Given the description of an element on the screen output the (x, y) to click on. 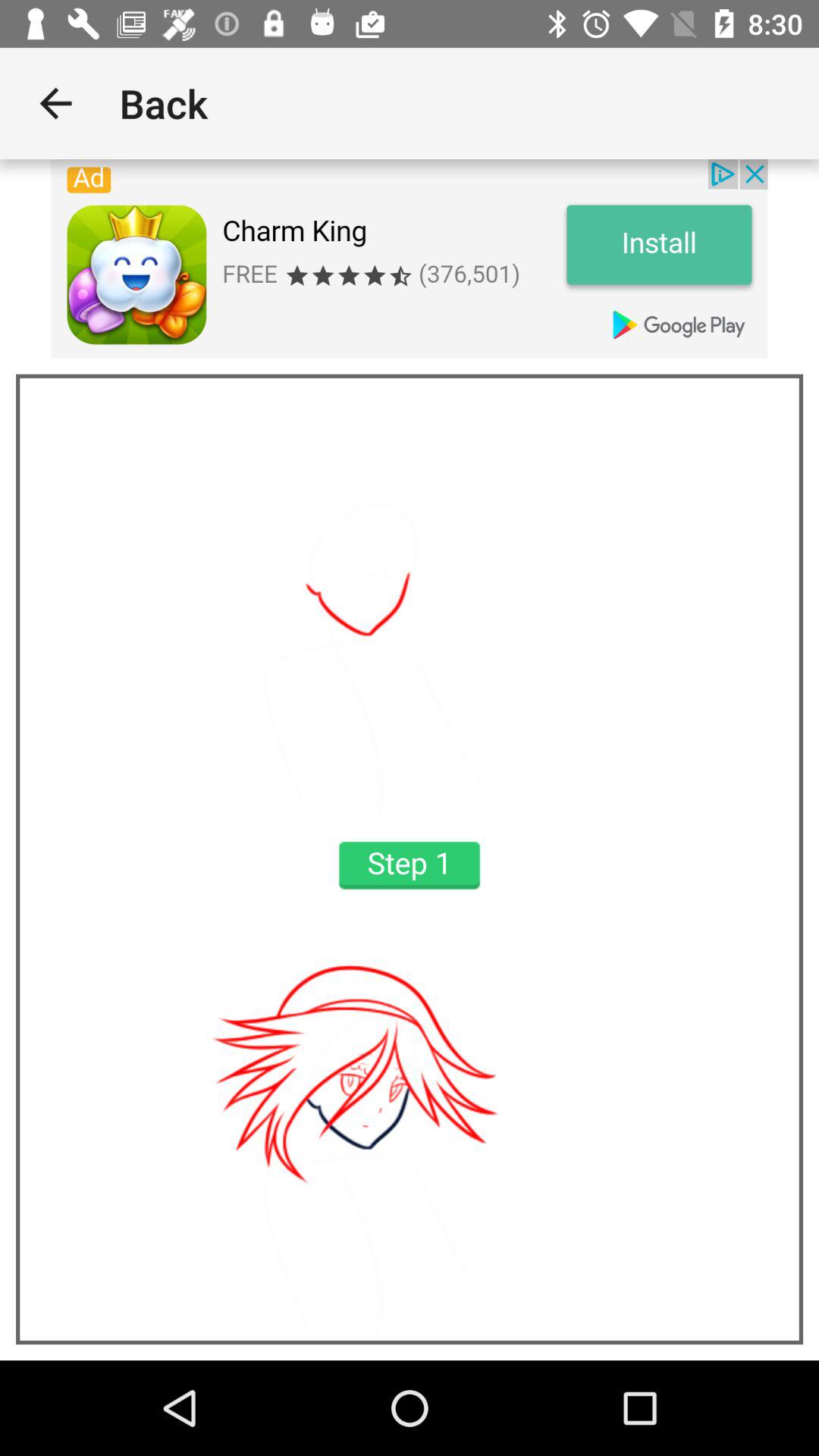
go to install option (409, 258)
